Given the description of an element on the screen output the (x, y) to click on. 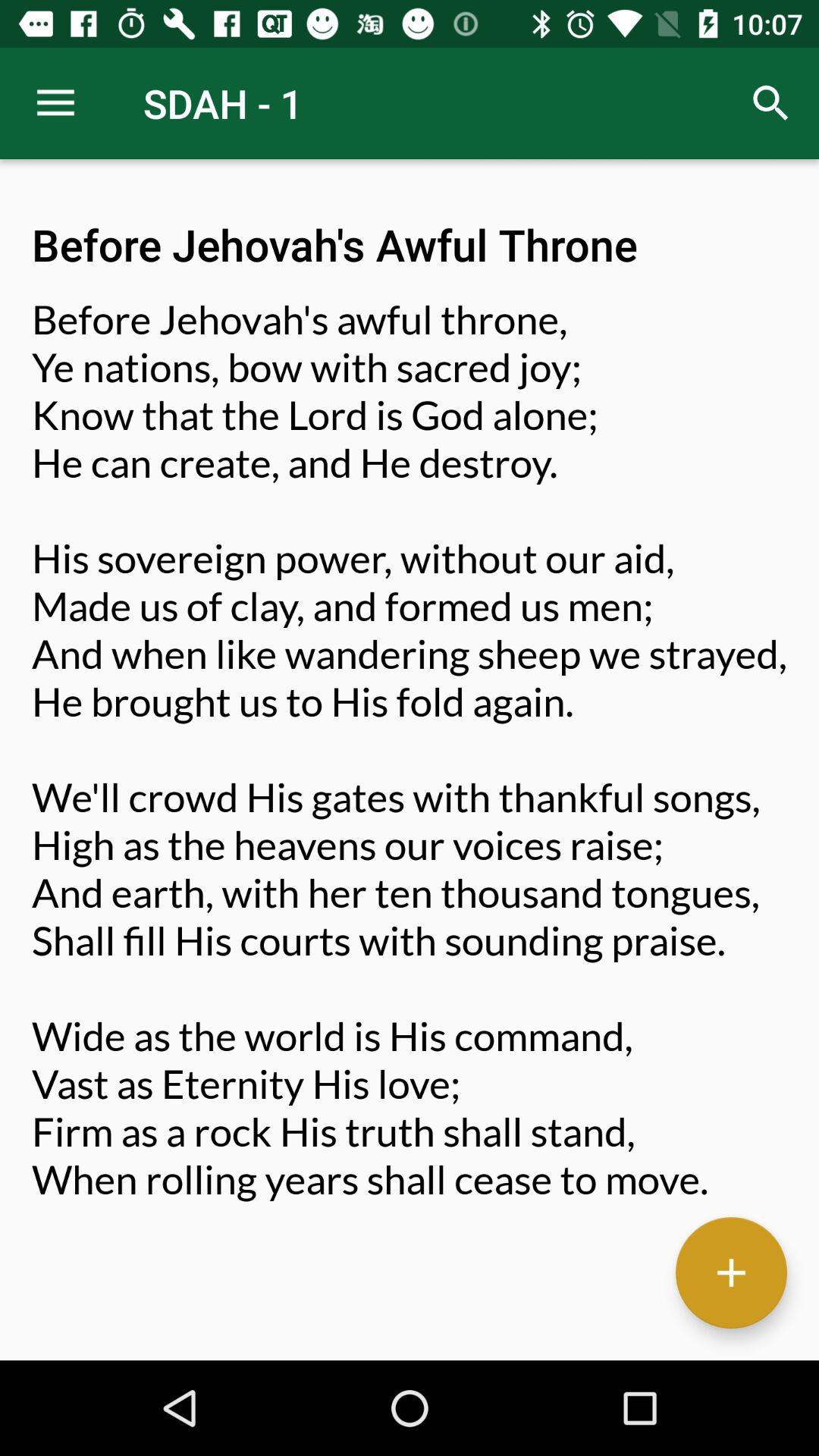
open icon to the right of sdah - 1 icon (771, 103)
